Given the description of an element on the screen output the (x, y) to click on. 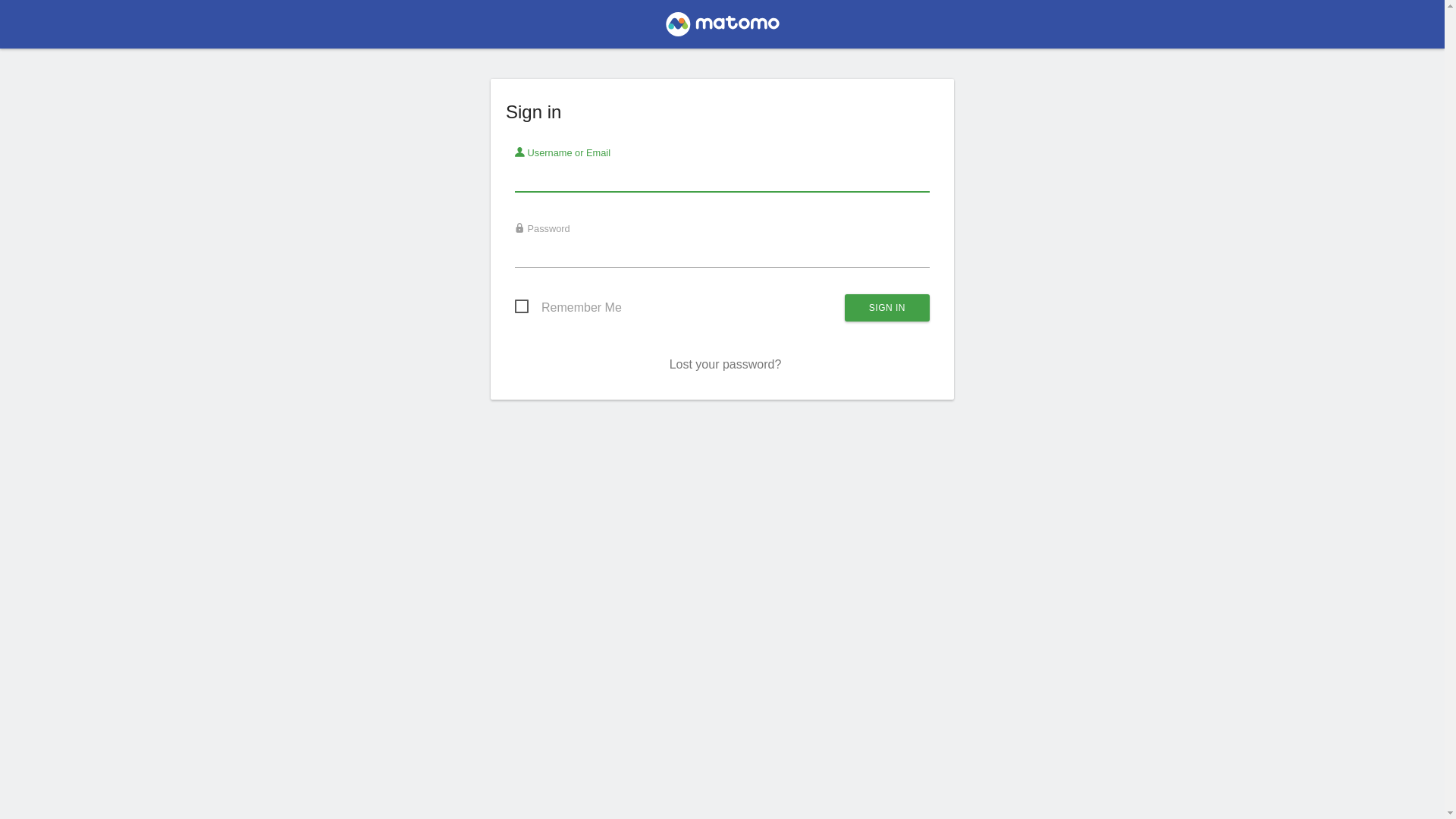
Sign in Element type: text (886, 307)
Matomo # free/libre analytics platform Element type: hover (722, 27)
Lost your password? Element type: text (725, 363)
